Given the description of an element on the screen output the (x, y) to click on. 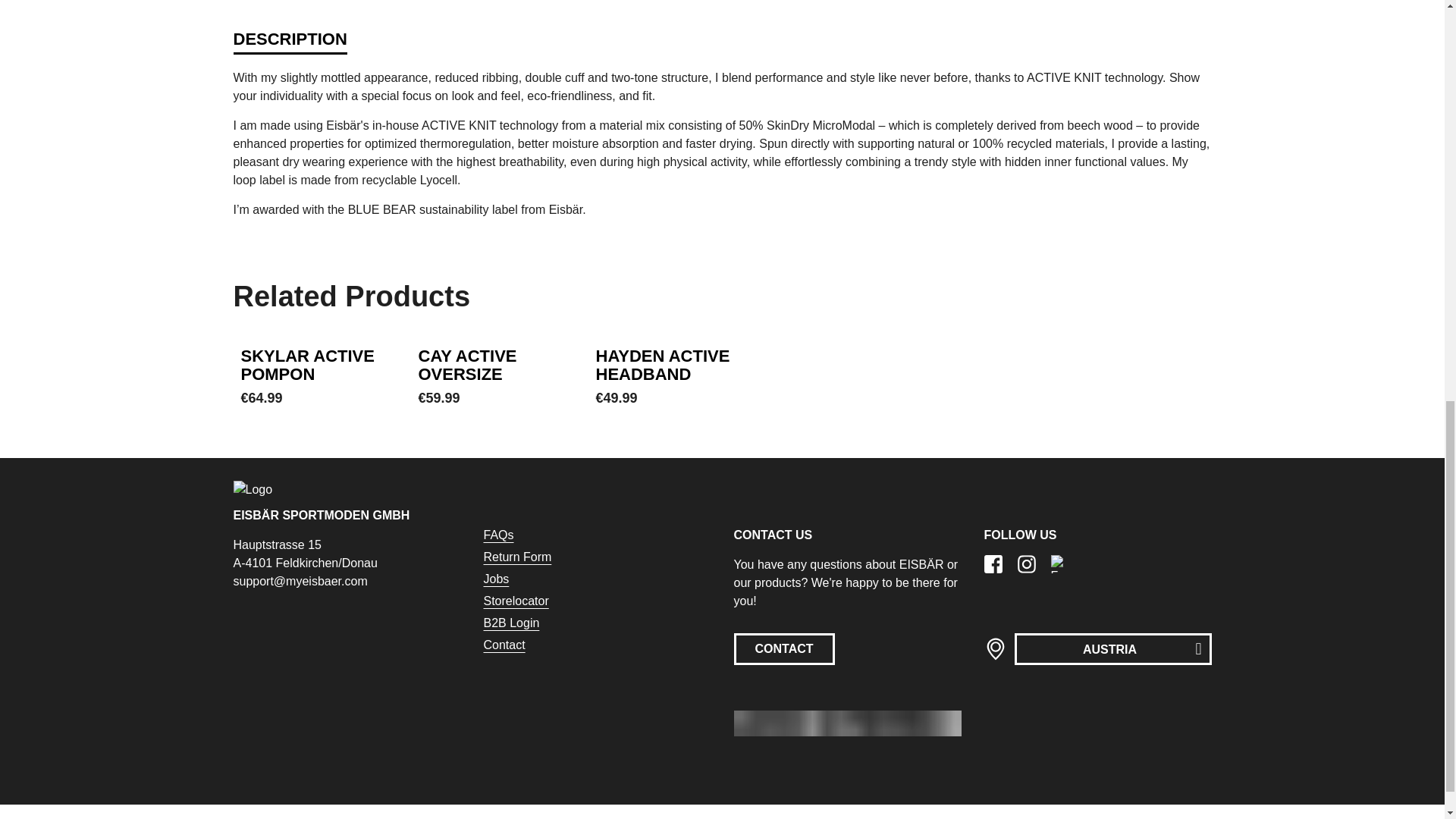
Bezahlen mit Paypal, Klarna, Kreditkarte, Giropay und EPS (846, 723)
Hayden Active Headband (662, 365)
Skylar Active Pompon (307, 365)
Cay Active Oversize (467, 365)
